Given the description of an element on the screen output the (x, y) to click on. 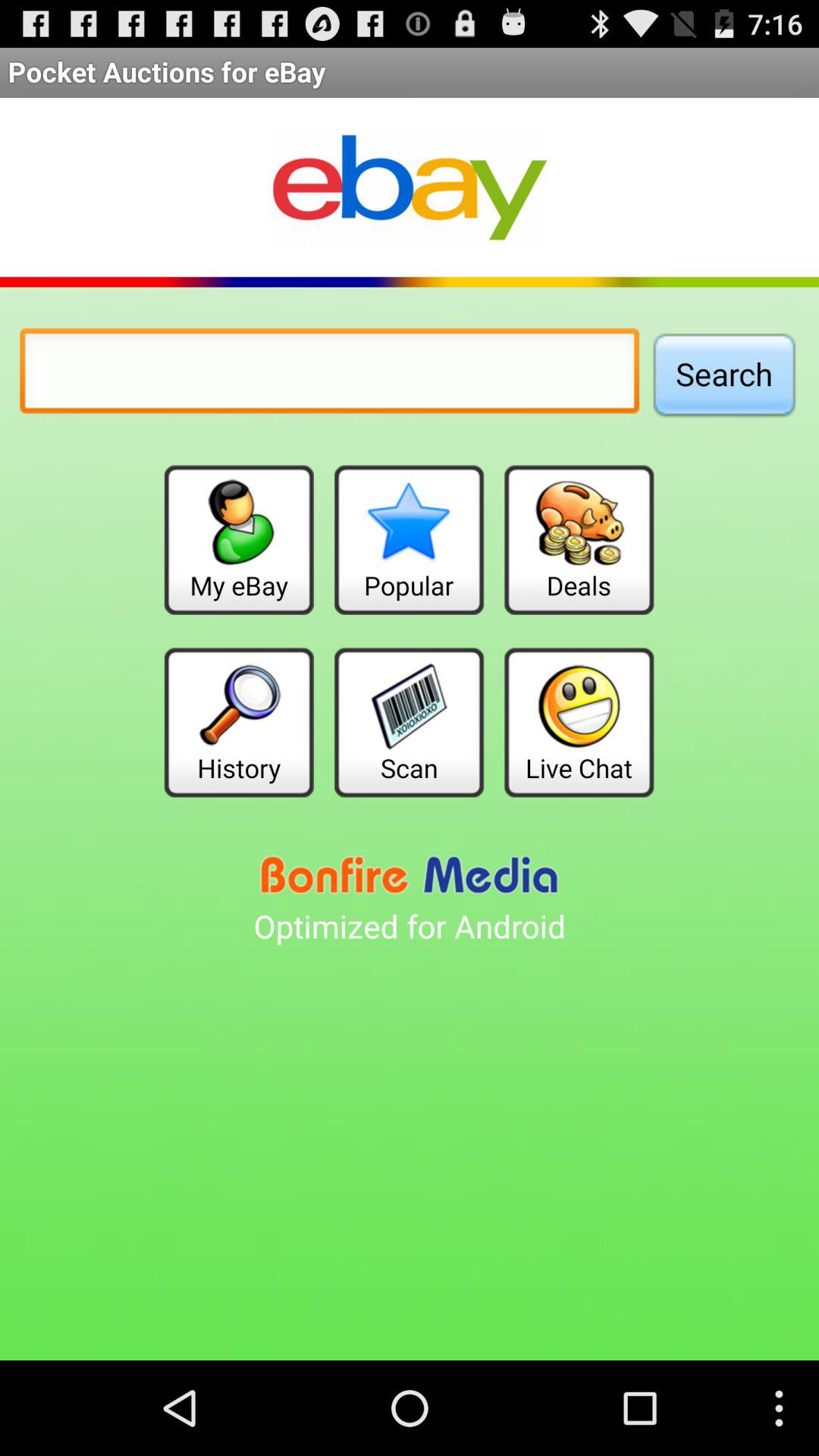
scroll until the scan button (409, 722)
